Given the description of an element on the screen output the (x, y) to click on. 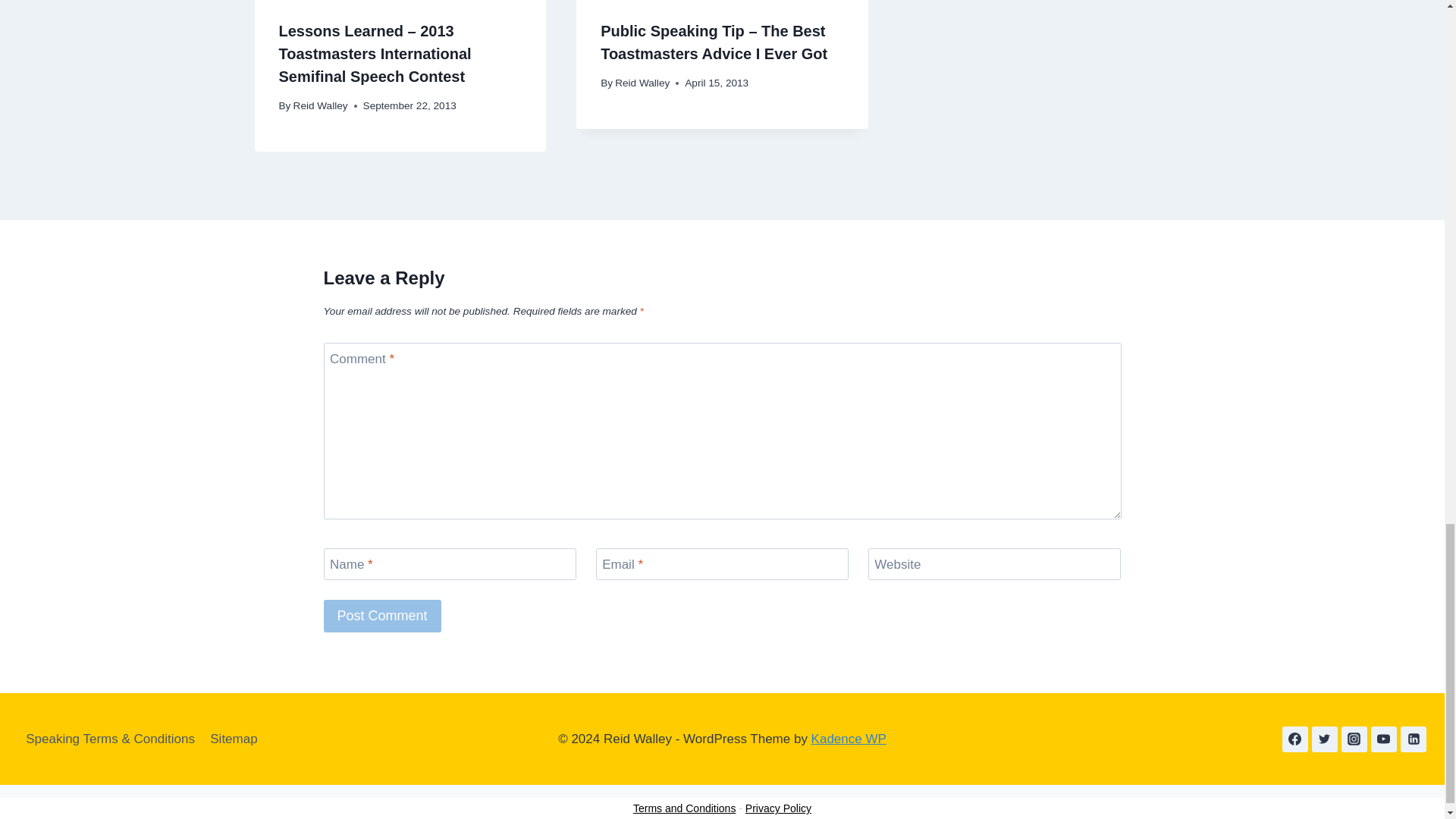
Post Comment (382, 615)
